Given the description of an element on the screen output the (x, y) to click on. 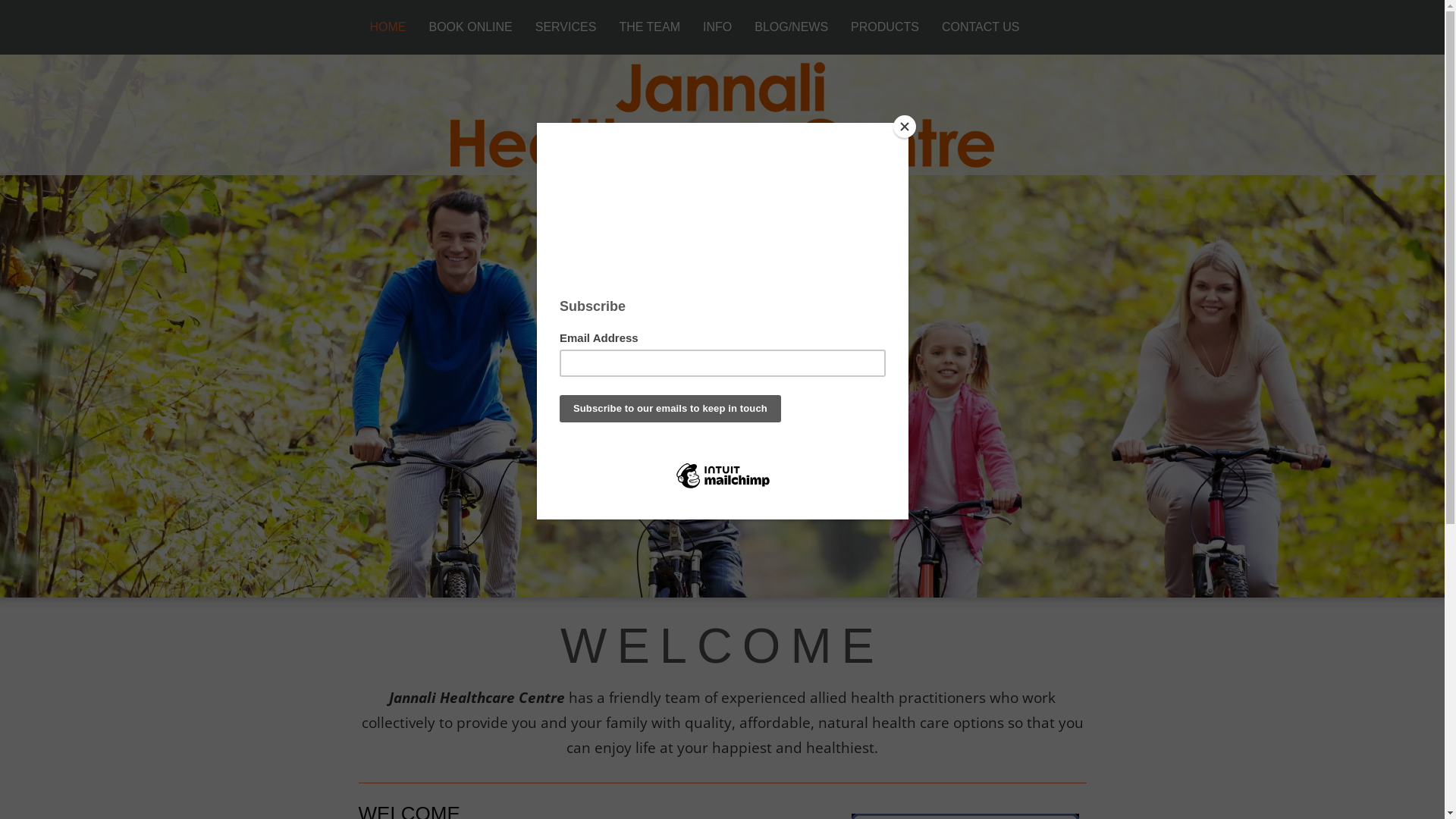
SERVICES Element type: text (566, 27)
JANNALI HEALTHCARE CENTRE Element type: text (721, 114)
PRODUCTS Element type: text (884, 27)
BOOK ONLINE Element type: text (470, 27)
THE TEAM Element type: text (649, 27)
CONTACT US Element type: text (980, 27)
HOME Element type: text (387, 27)
BLOG/NEWS Element type: text (791, 27)
INFO Element type: text (717, 27)
